Given the description of an element on the screen output the (x, y) to click on. 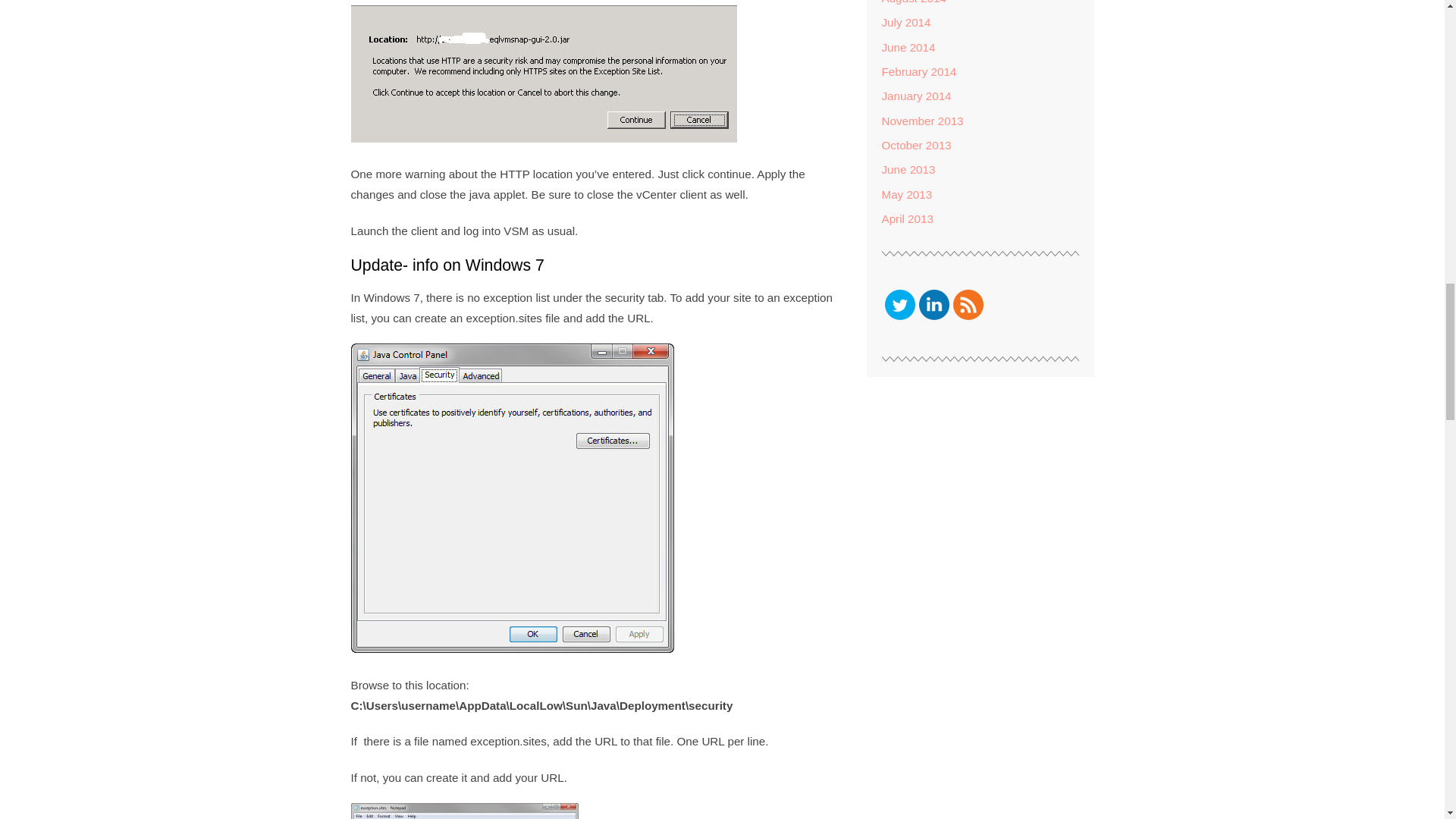
RSS (967, 304)
LinkedIn (933, 304)
Twitter (898, 304)
